Given the description of an element on the screen output the (x, y) to click on. 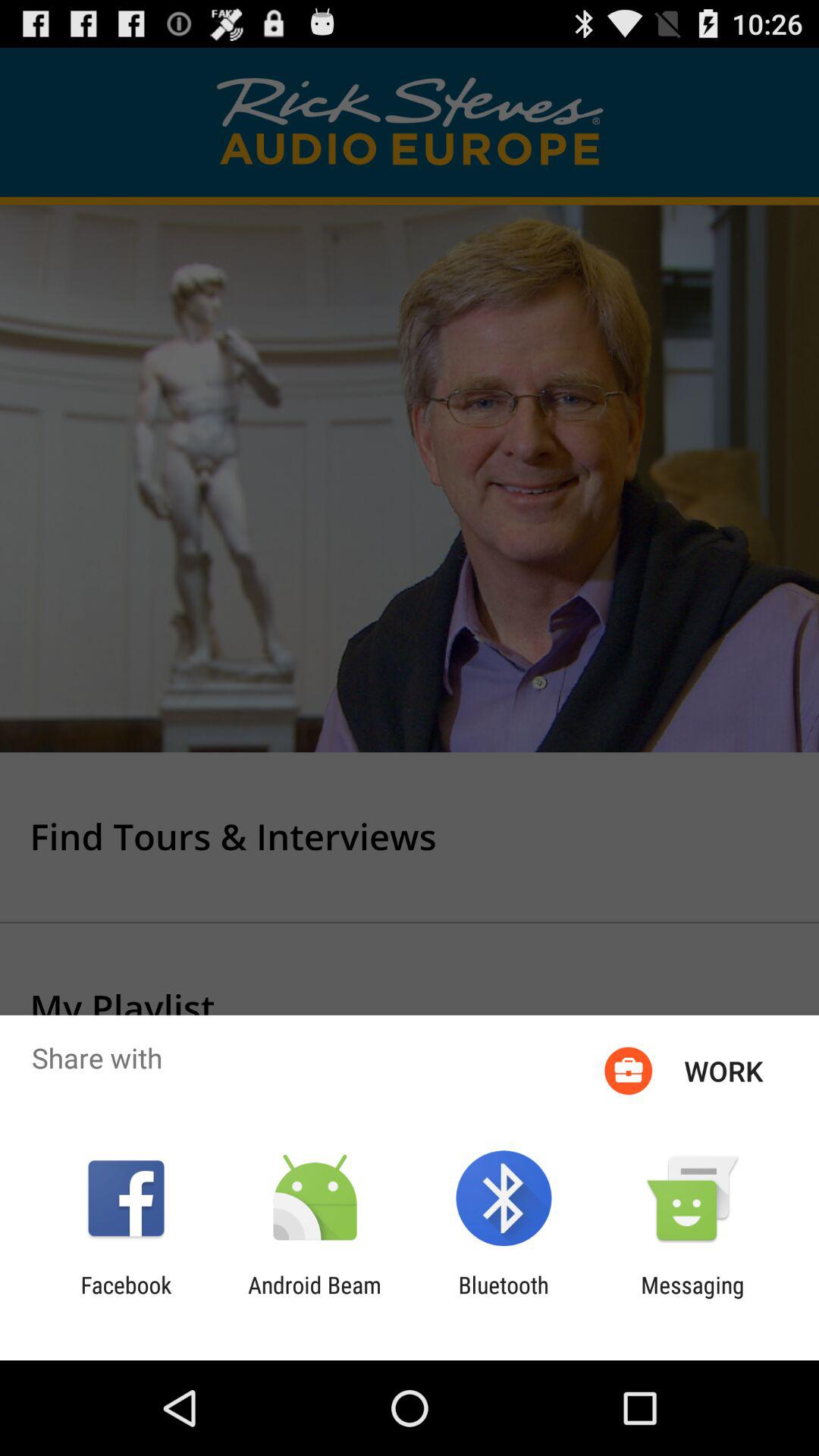
tap facebook icon (125, 1298)
